Given the description of an element on the screen output the (x, y) to click on. 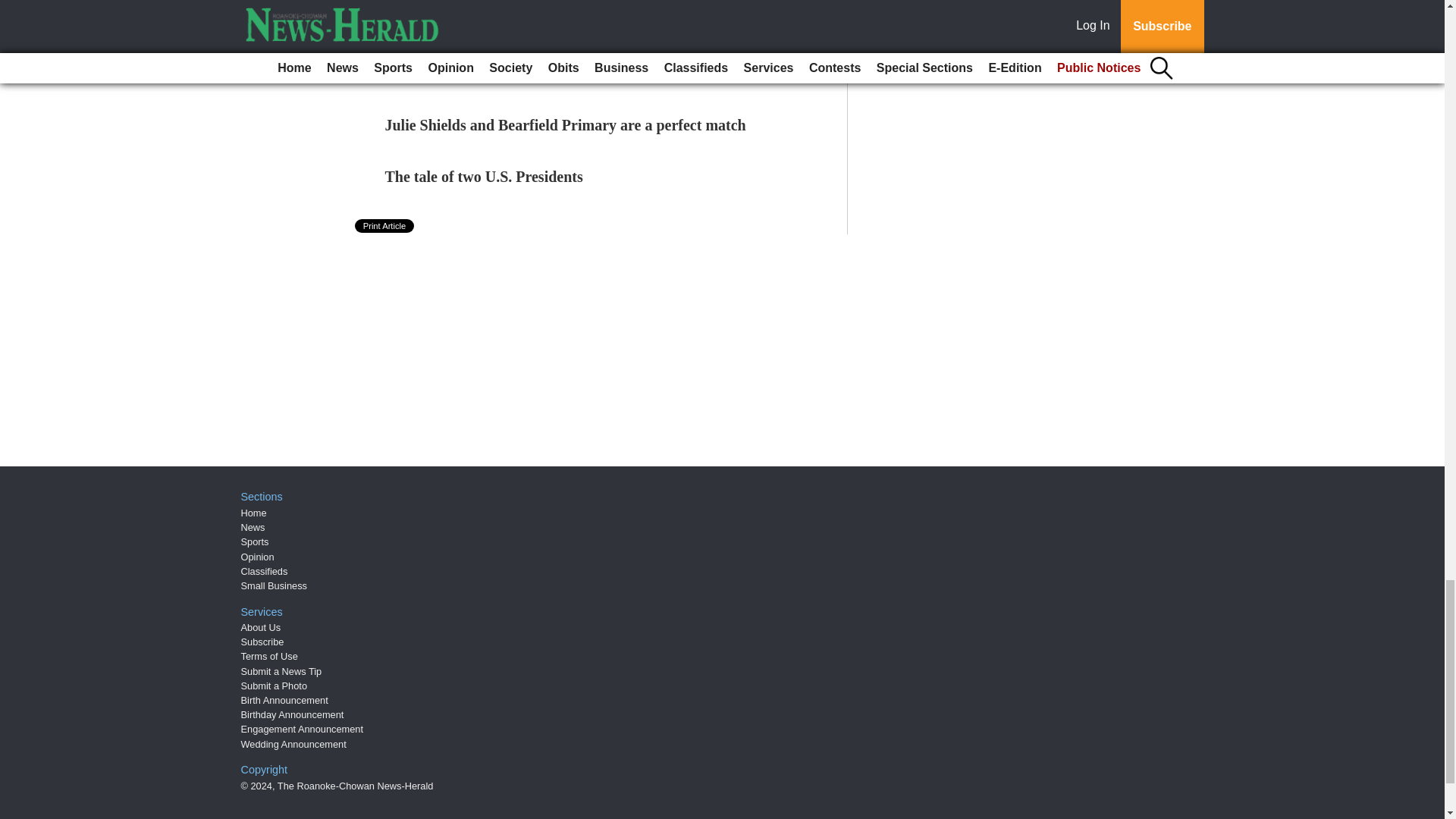
Communication, or a lack thereof (494, 21)
The tale of two U.S. Presidents (484, 176)
The tale of two U.S. Presidents (484, 176)
Communication, or a lack thereof (494, 21)
Print Article (384, 225)
Julie Shields and Bearfield Primary are a perfect match (565, 125)
Julie Shields and Bearfield Primary are a perfect match (565, 125)
